Given the description of an element on the screen output the (x, y) to click on. 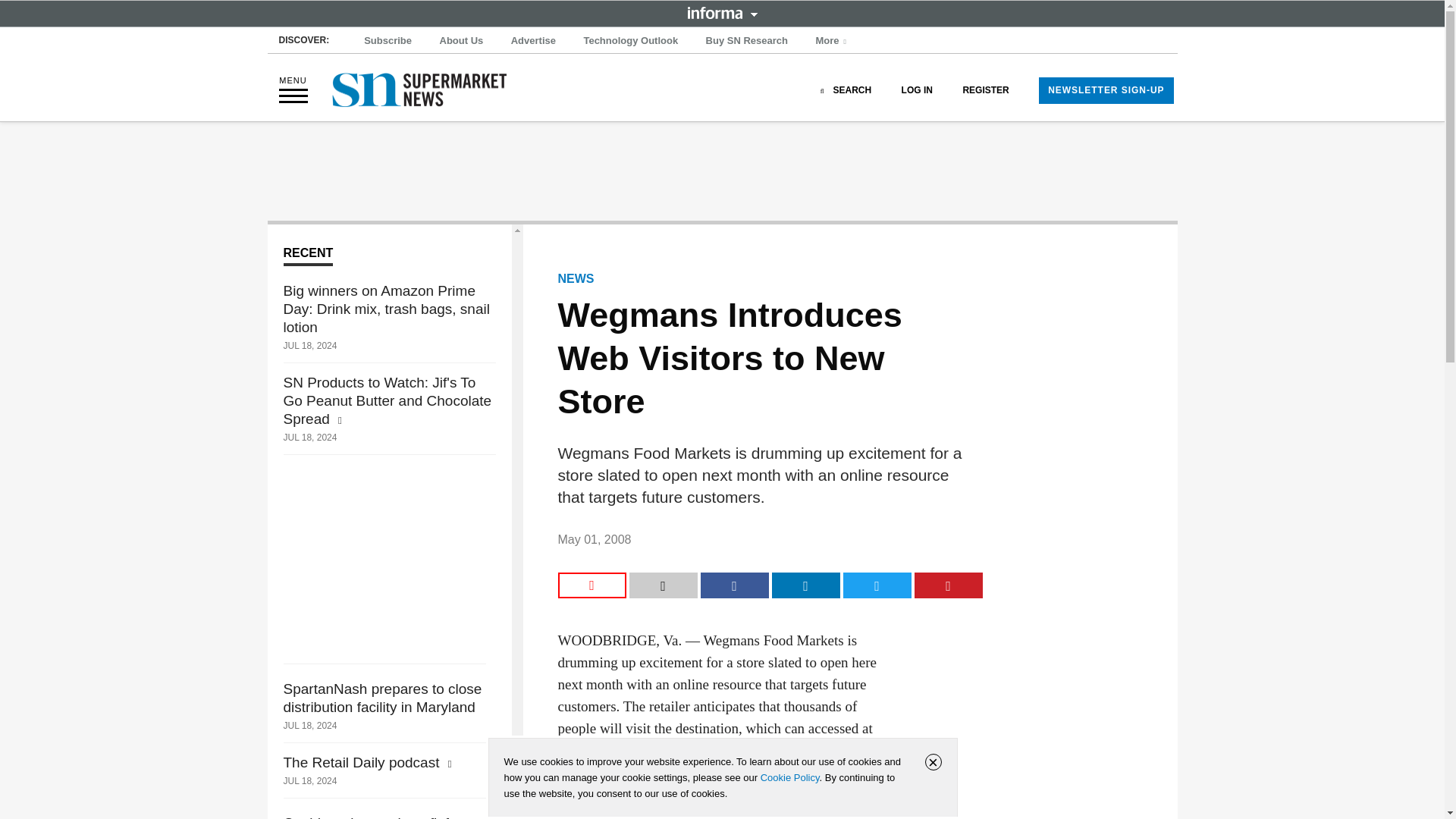
Cookie Policy (789, 777)
Subscribe (387, 41)
About Us (461, 41)
Technology Outlook (630, 41)
Buy SN Research (746, 41)
INFORMA (722, 12)
Advertise (533, 41)
More (832, 41)
